Given the description of an element on the screen output the (x, y) to click on. 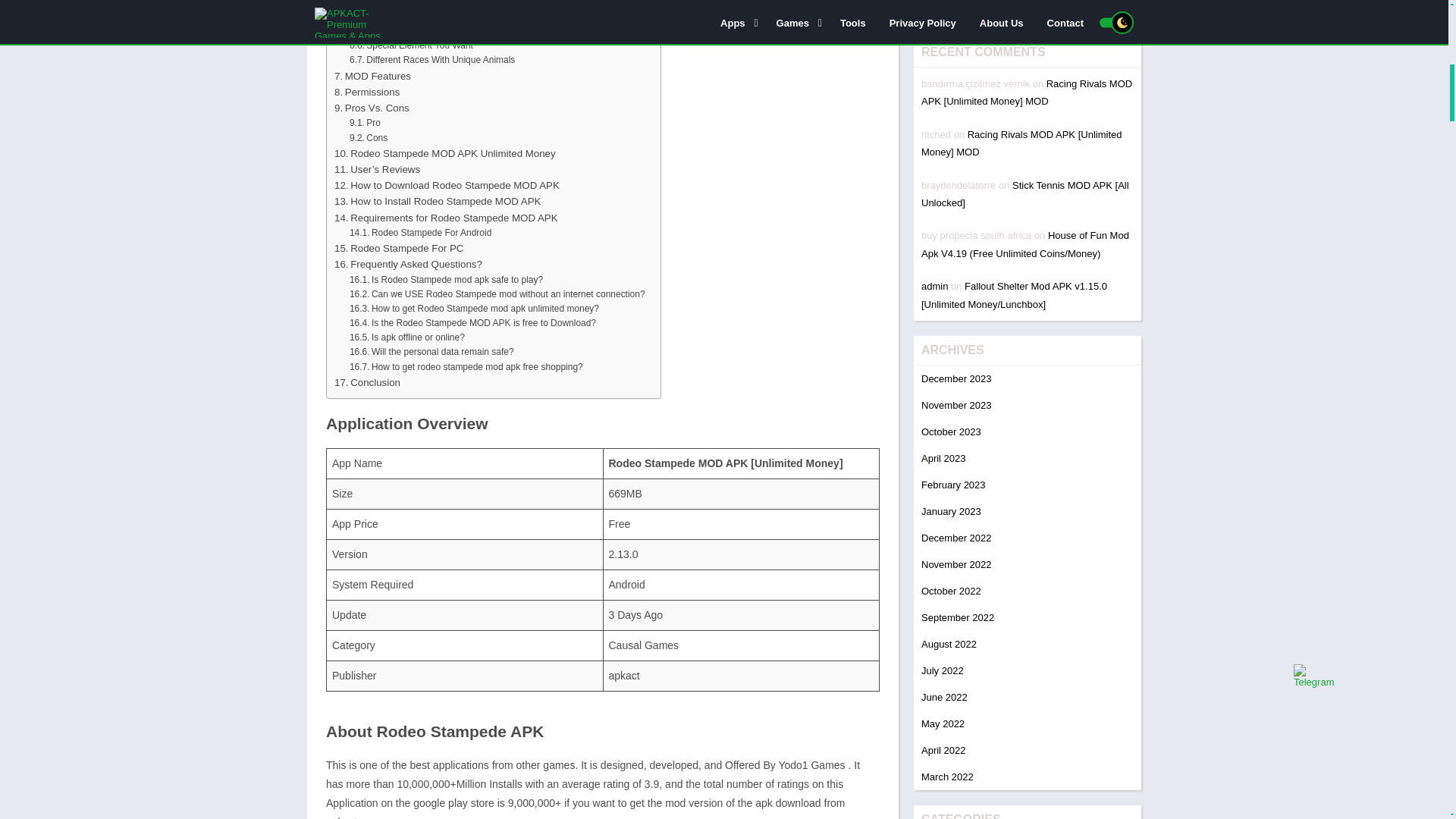
Remove Challenges (398, 4)
